Given the description of an element on the screen output the (x, y) to click on. 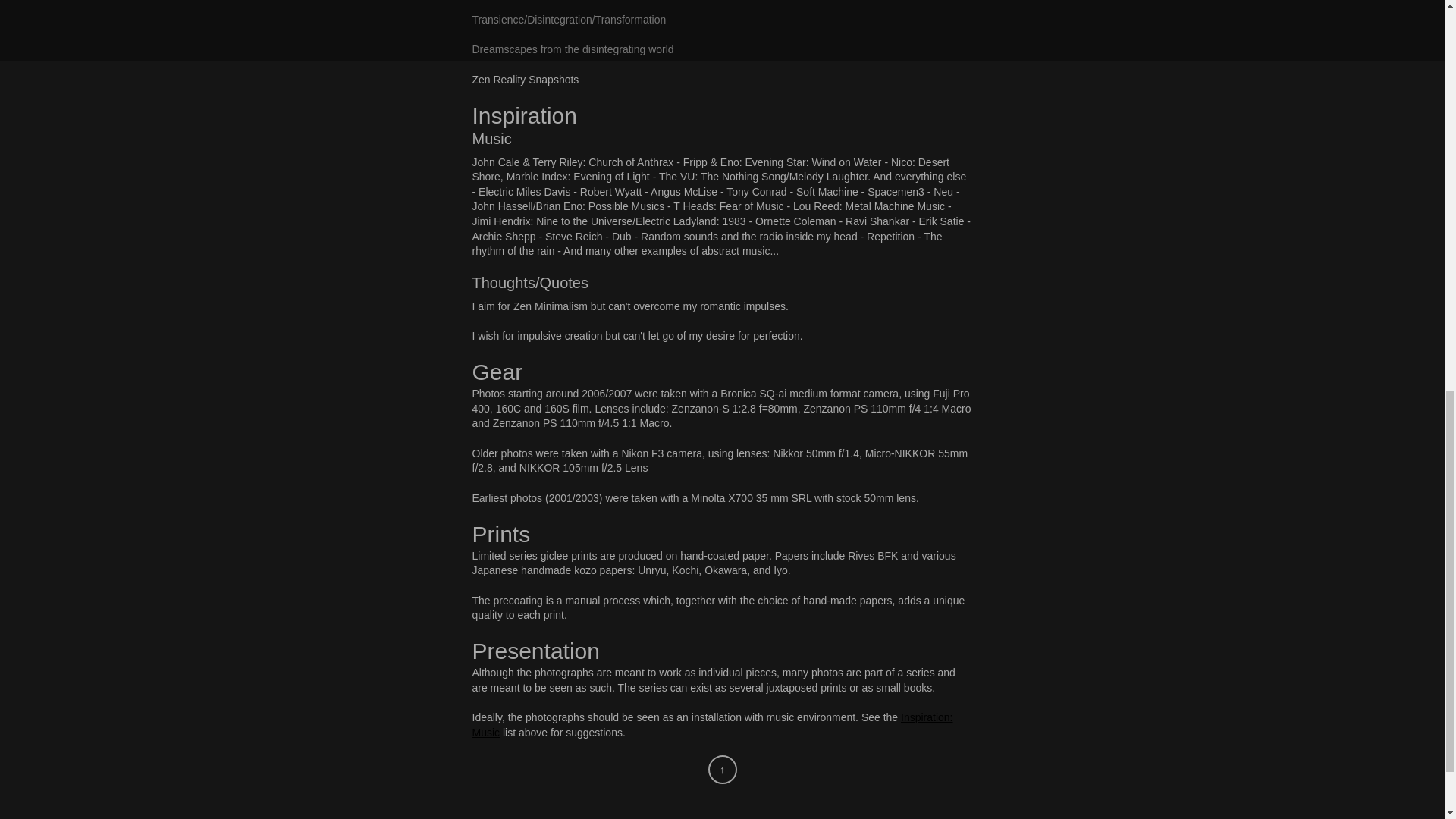
Inspiration: Music (711, 724)
